Given the description of an element on the screen output the (x, y) to click on. 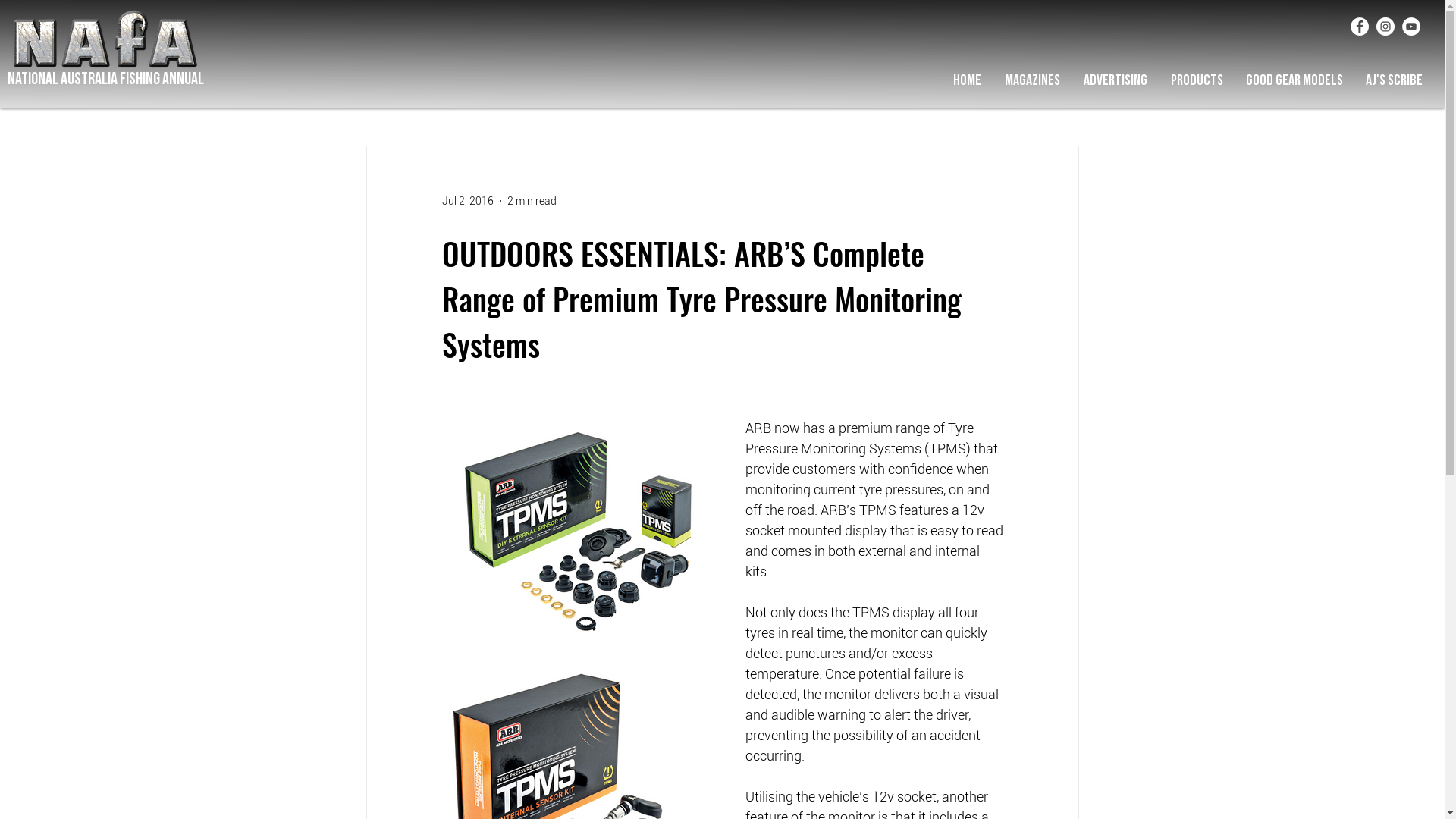
HOME Element type: text (966, 80)
GOOD GEAR MODELS Element type: text (1294, 80)
